Given the description of an element on the screen output the (x, y) to click on. 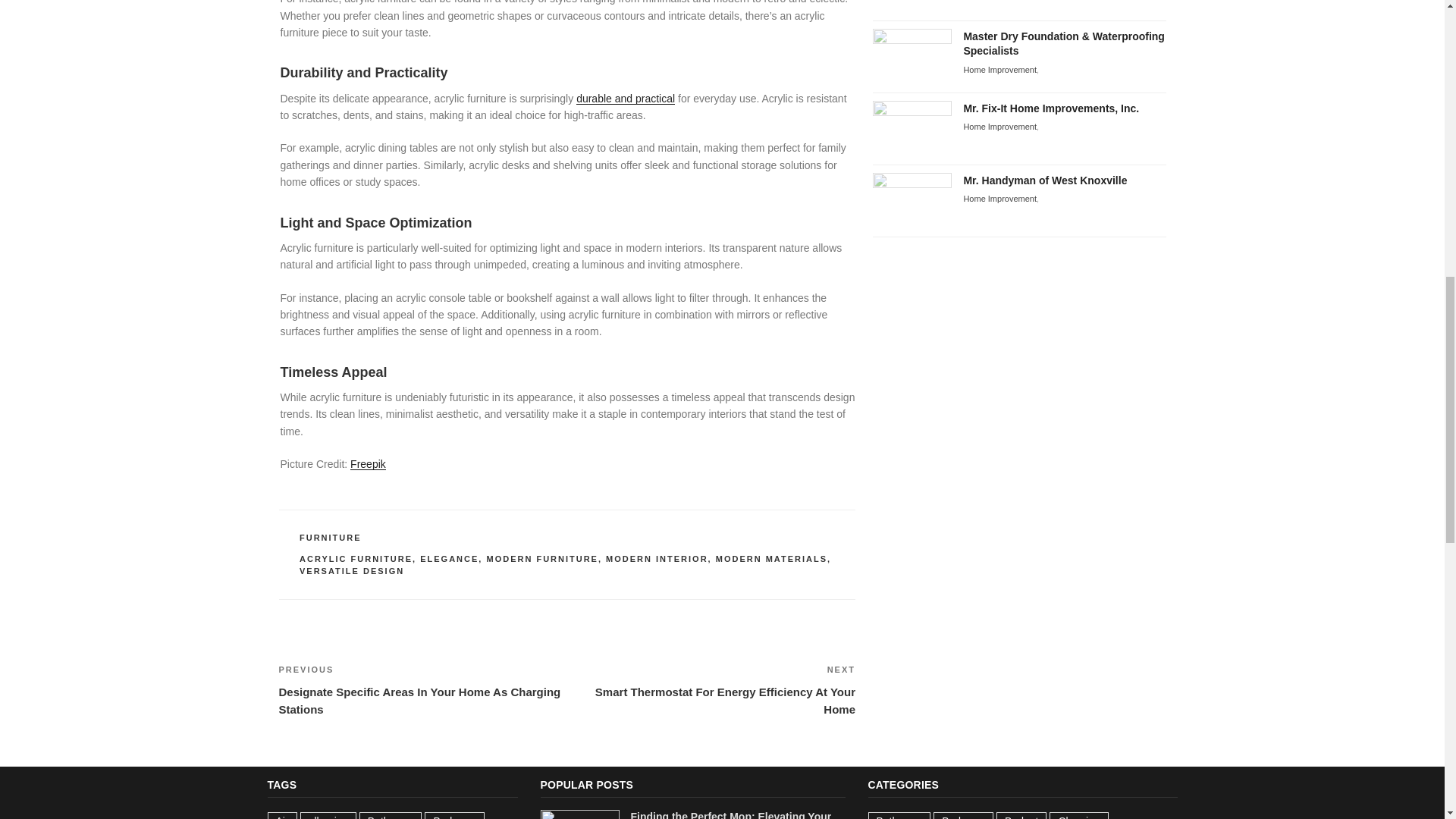
FURNITURE (330, 519)
Home Improvement (909, 12)
MODERN MATERIALS (771, 540)
VERSATILE DESIGN (351, 552)
Freepik (367, 445)
ACRYLIC FURNITURE (355, 540)
MODERN FURNITURE (542, 540)
ELEGANCE (449, 540)
Home Improvement (999, 67)
